Given the description of an element on the screen output the (x, y) to click on. 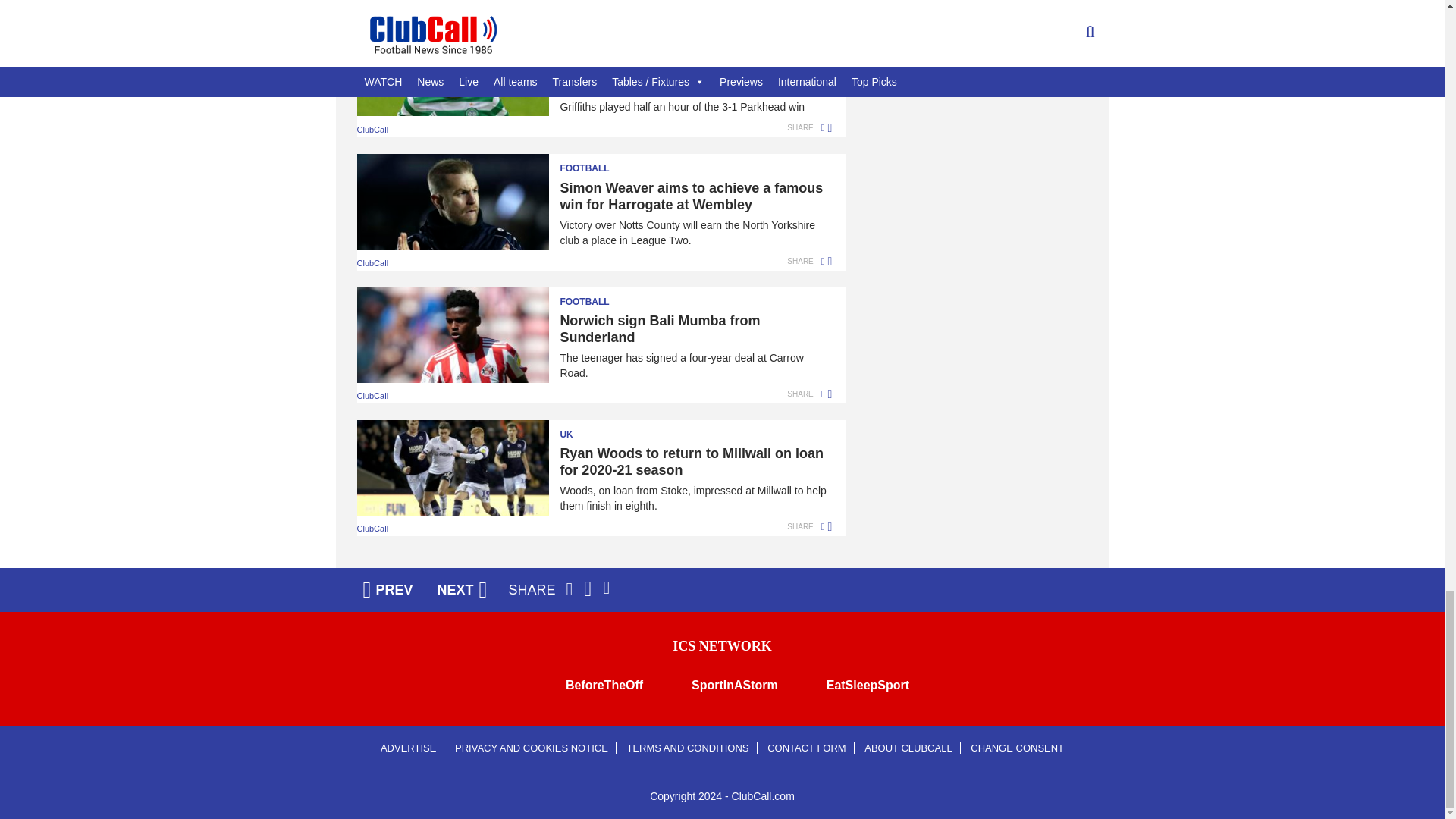
Football (593, 29)
Football (593, 163)
UK (593, 429)
Football (593, 297)
